Given the description of an element on the screen output the (x, y) to click on. 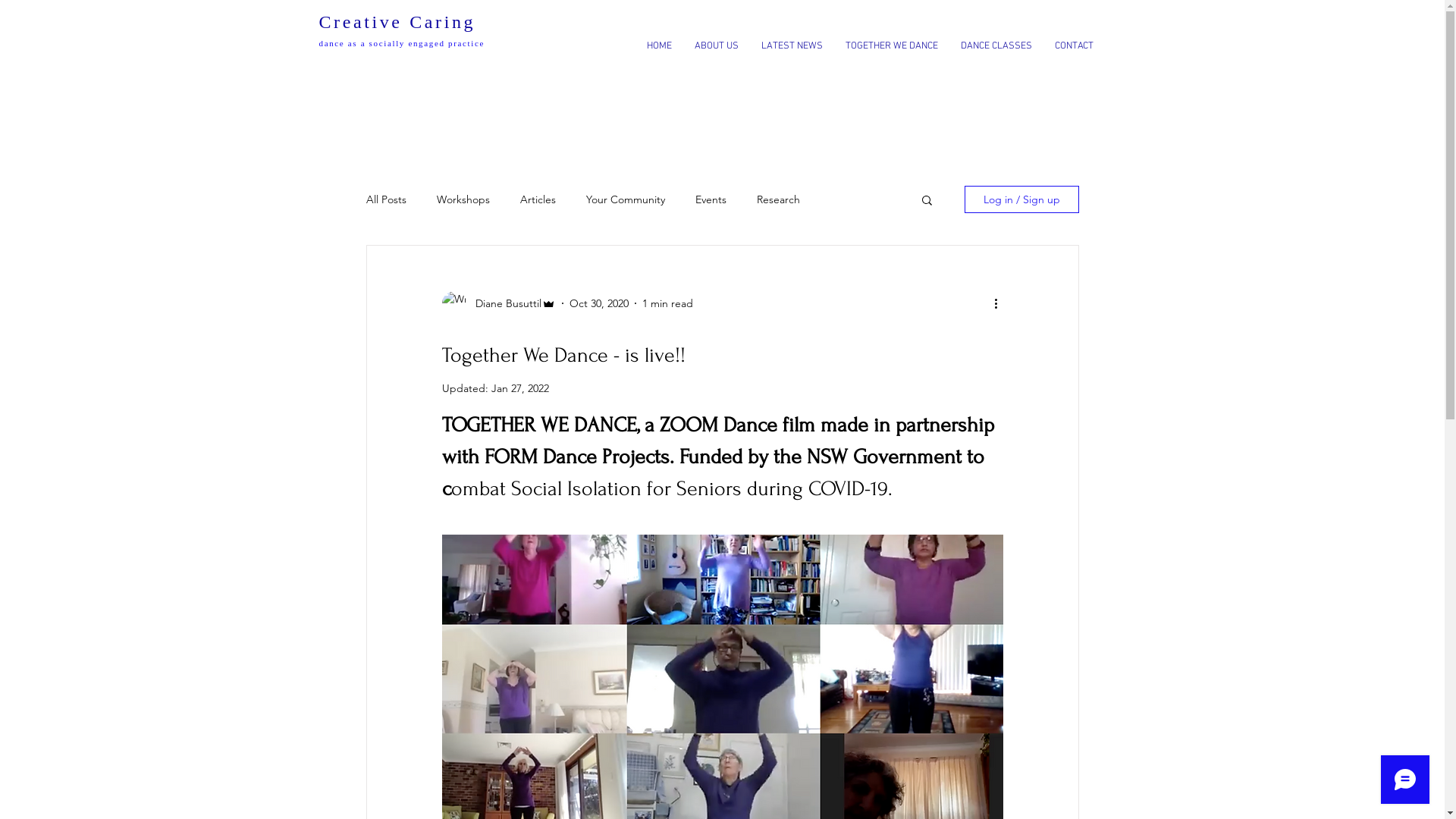
TOGETHER WE DANCE Element type: text (891, 46)
dance as a socially engaged practice Element type: text (401, 42)
All Posts Element type: text (385, 199)
Creative Caring Element type: text (396, 21)
ABOUT US Element type: text (715, 46)
Your Community Element type: text (624, 199)
Log in / Sign up Element type: text (1021, 199)
Research Element type: text (778, 199)
Events Element type: text (709, 199)
CONTACT Element type: text (1073, 46)
HOME Element type: text (659, 46)
DANCE CLASSES Element type: text (996, 46)
Workshops Element type: text (462, 199)
LATEST NEWS Element type: text (791, 46)
Articles Element type: text (537, 199)
